Given the description of an element on the screen output the (x, y) to click on. 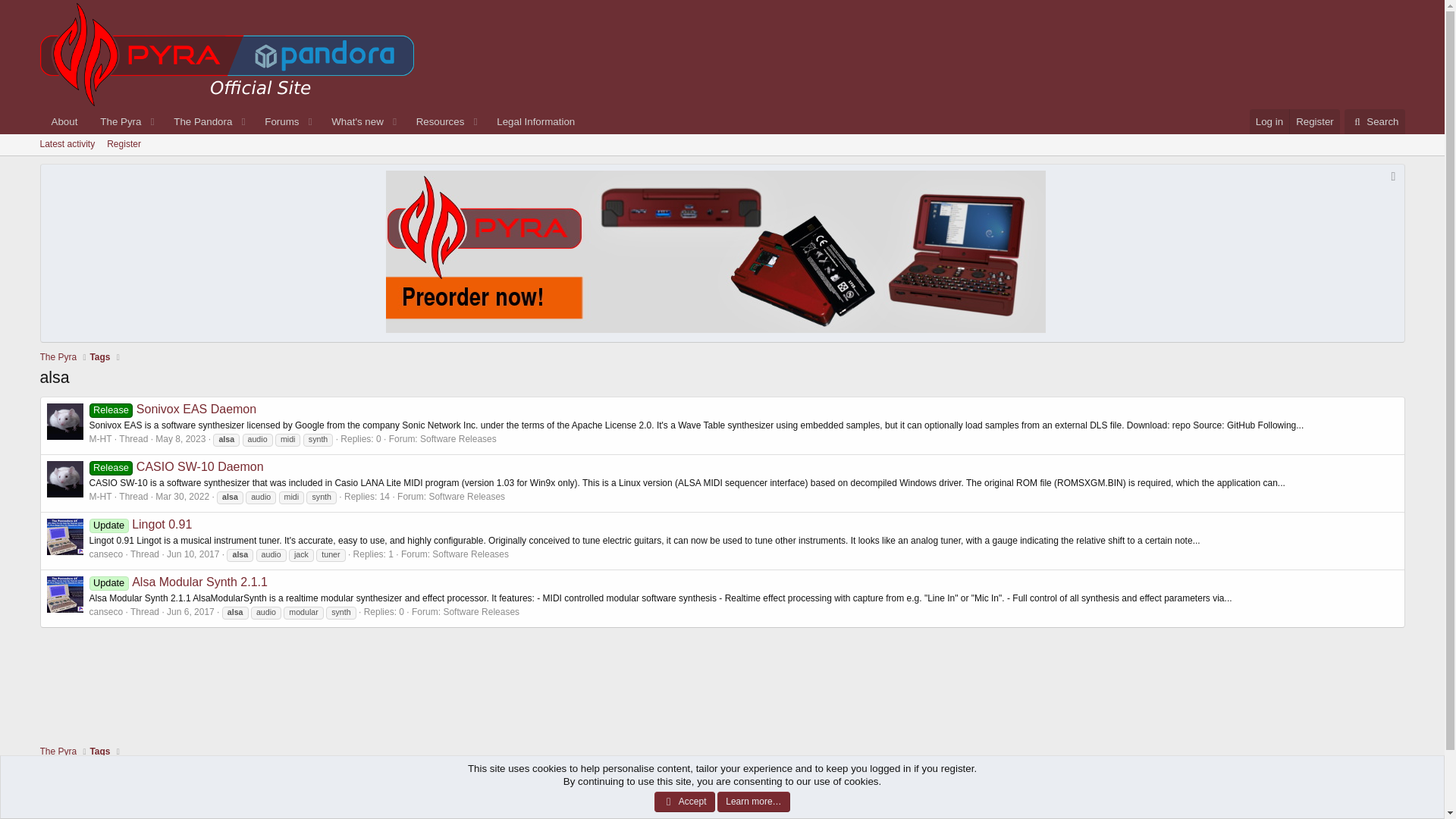
RSS (1388, 781)
Mar 30, 2022 at 2:46 PM (182, 496)
Resources (434, 121)
Search (1374, 121)
May 8, 2023 at 10:39 AM (180, 439)
Log in (1268, 121)
Register (1313, 121)
Register (123, 144)
Jun 10, 2017 at 2:44 PM (193, 553)
